Given the description of an element on the screen output the (x, y) to click on. 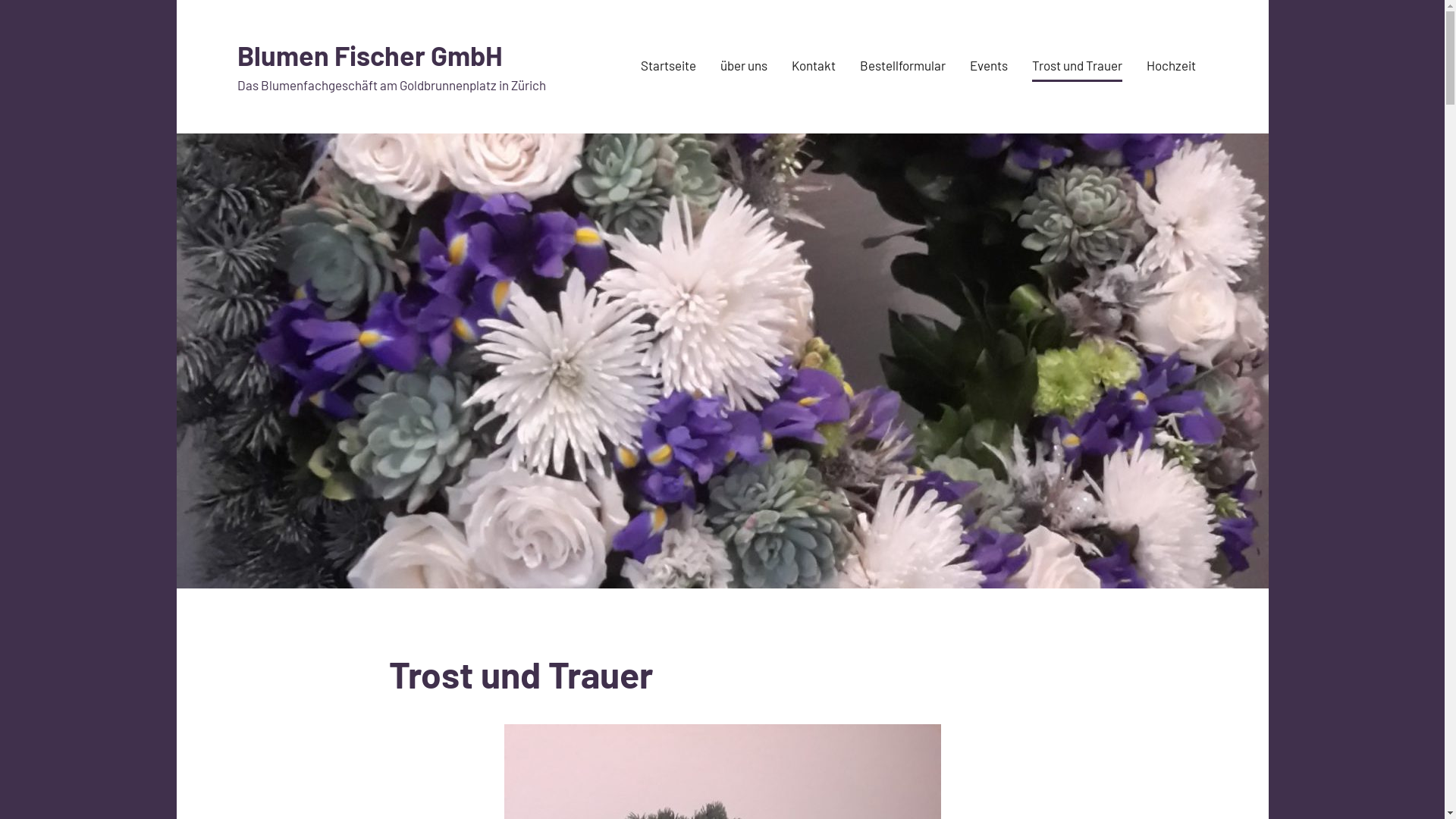
Trost und Trauer Element type: text (1076, 66)
Blumen Fischer GmbH Element type: text (369, 54)
Events Element type: text (988, 66)
Kontakt Element type: text (813, 66)
Hochzeit Element type: text (1170, 66)
Startseite Element type: text (667, 66)
Bestellformular Element type: text (902, 66)
